Given the description of an element on the screen output the (x, y) to click on. 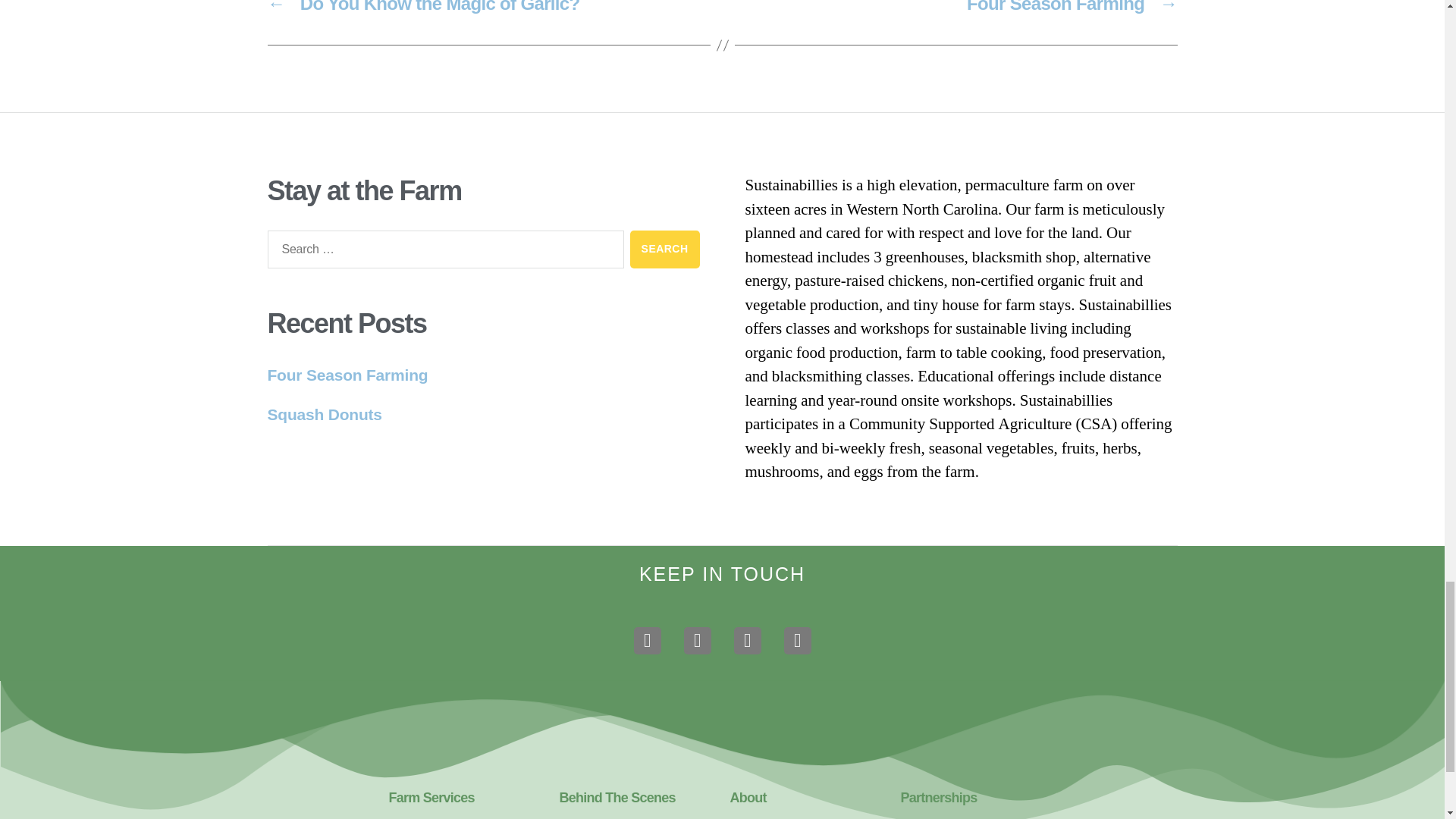
Search (665, 249)
Squash Donuts (323, 414)
Search (665, 249)
Four Season Farming (347, 375)
Search (665, 249)
